Given the description of an element on the screen output the (x, y) to click on. 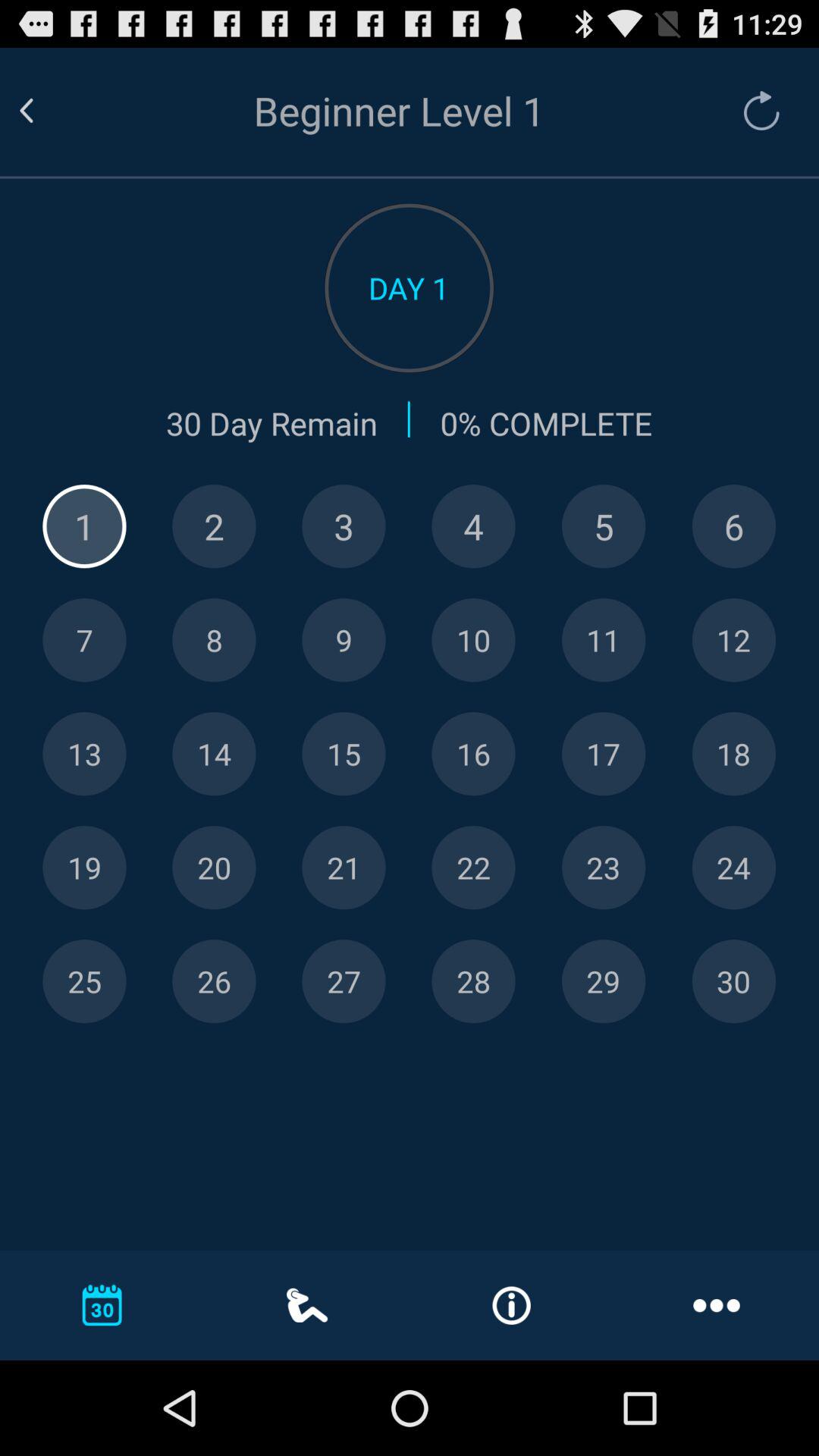
select day 2 (213, 526)
